Given the description of an element on the screen output the (x, y) to click on. 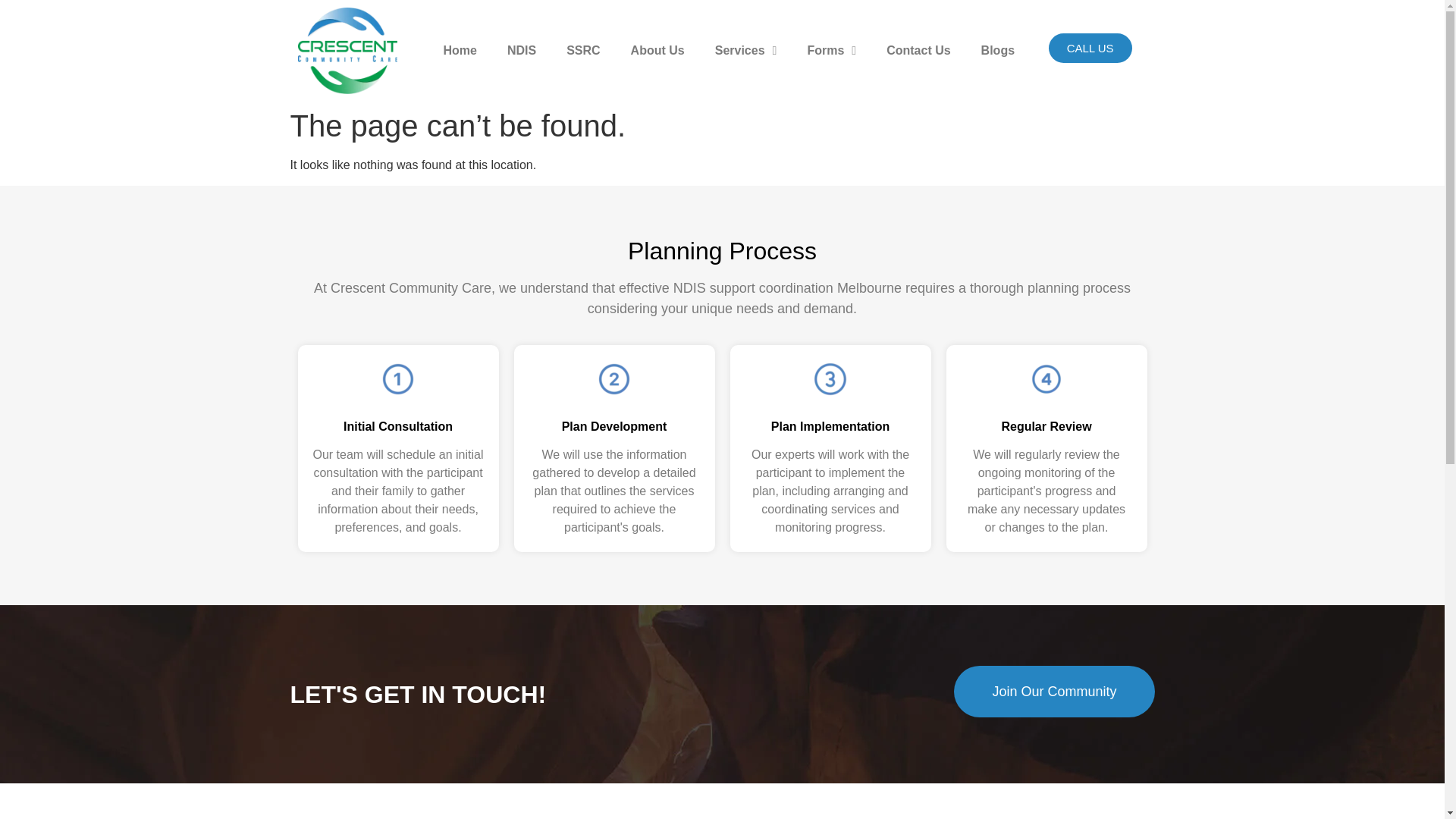
3 (829, 379)
1 (397, 379)
Contact Us (917, 50)
Blogs (997, 50)
Home (460, 50)
Services (746, 50)
NDIS (521, 50)
SSRC (582, 50)
2 (614, 379)
4 (1046, 379)
Forms (831, 50)
About Us (657, 50)
